Given the description of an element on the screen output the (x, y) to click on. 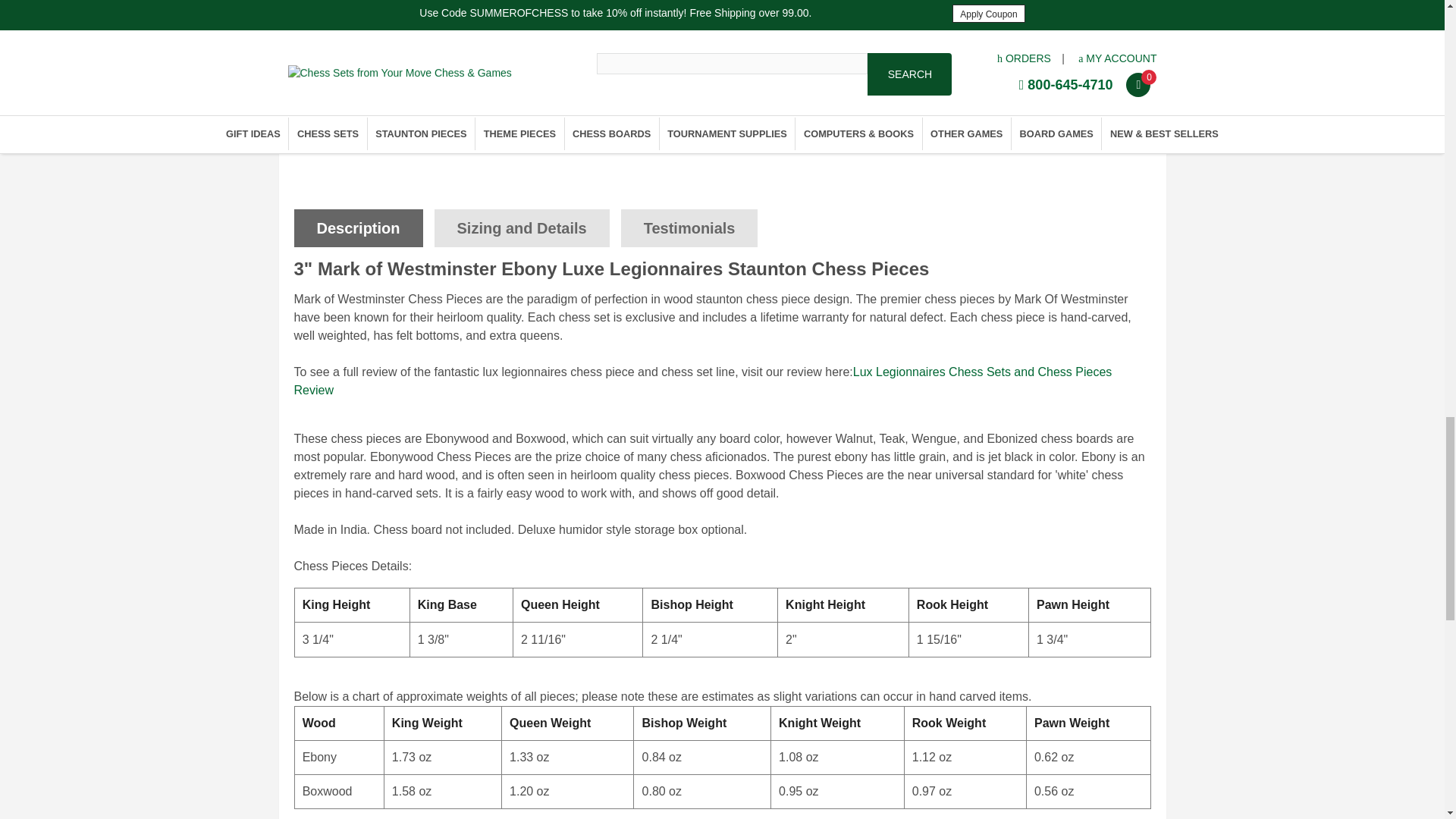
1 (807, 81)
Add to Cart (1000, 83)
